Given the description of an element on the screen output the (x, y) to click on. 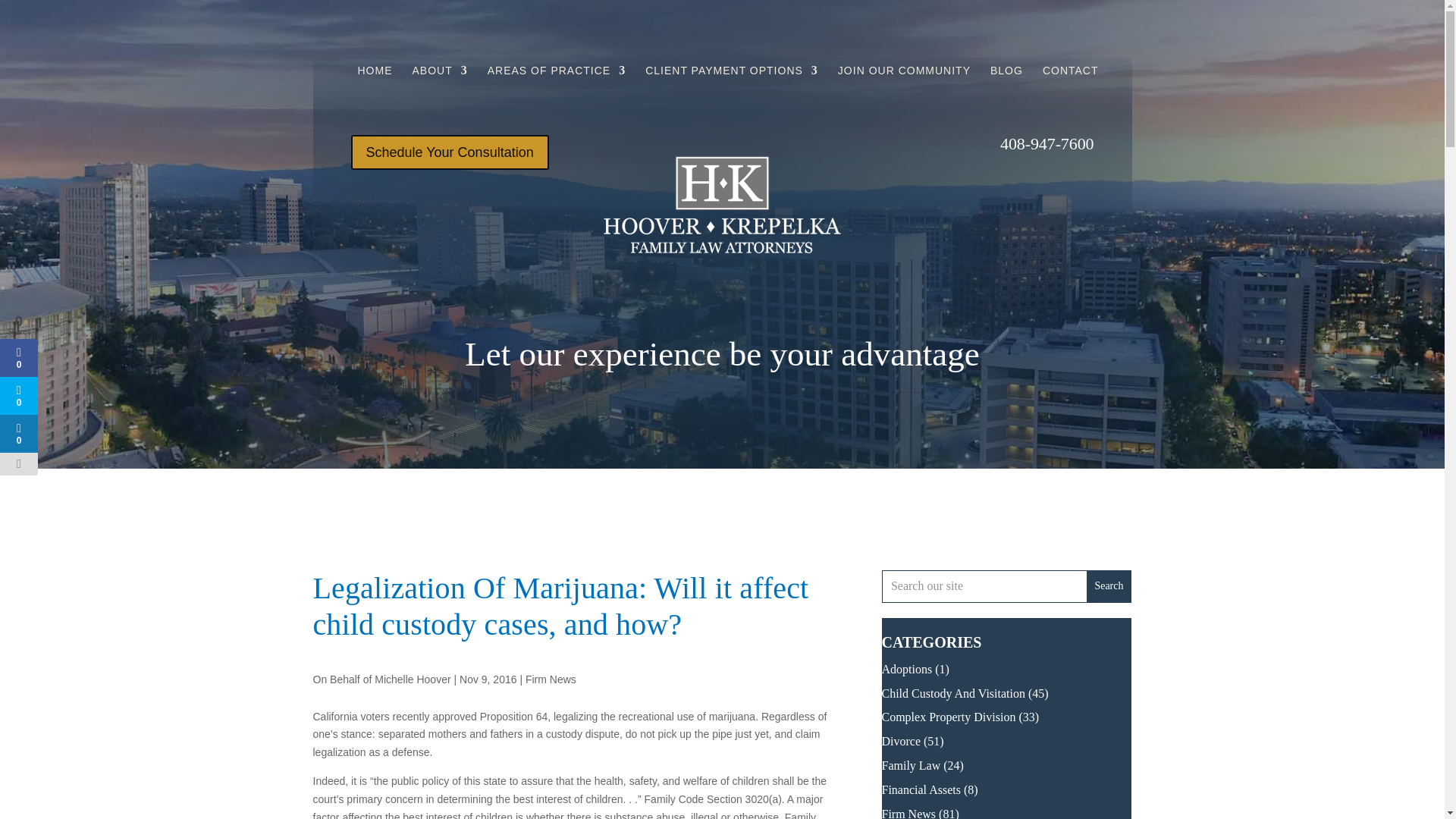
Search (1108, 585)
Search (1108, 585)
